Given the description of an element on the screen output the (x, y) to click on. 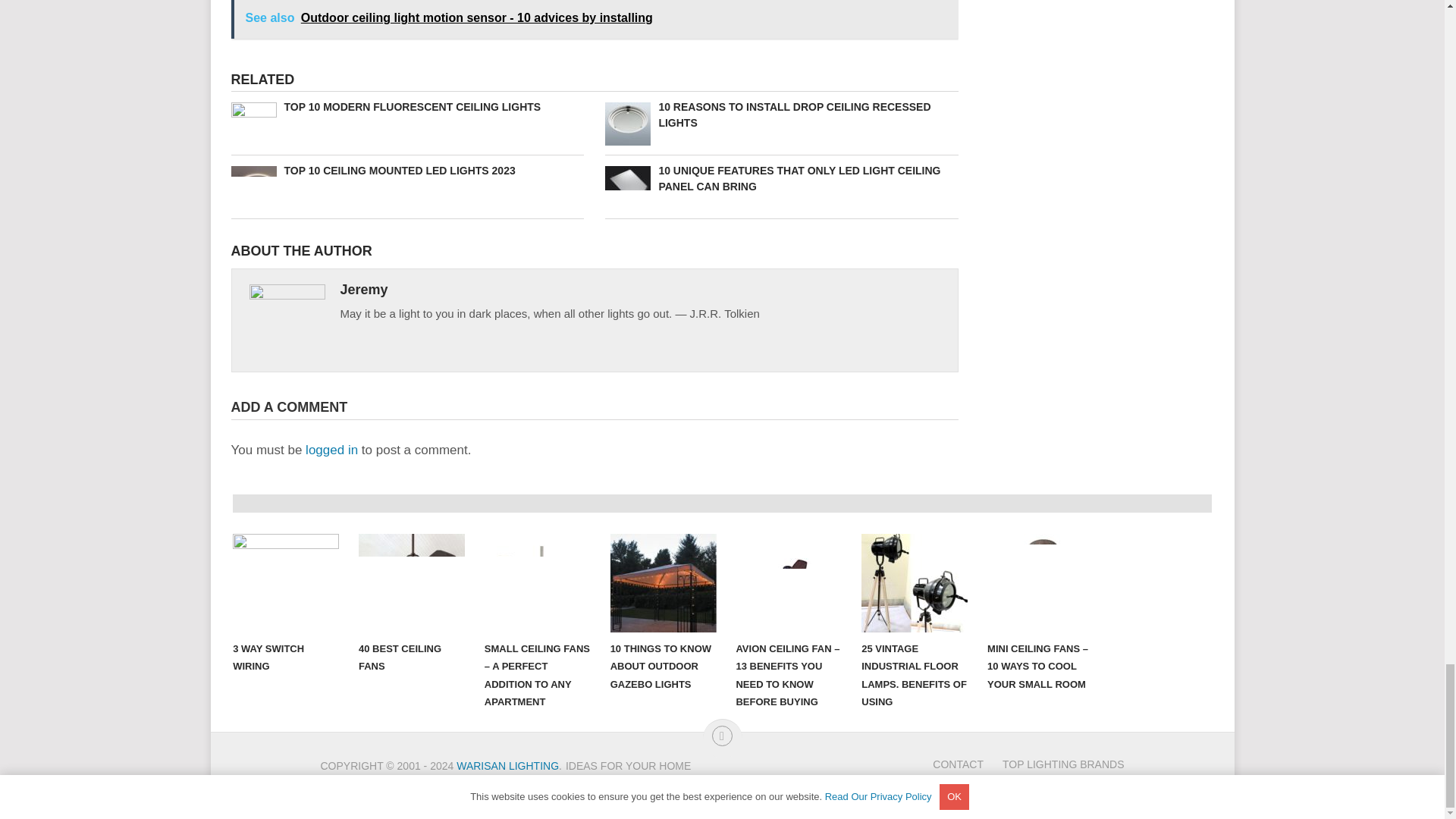
TOP 10 Modern fluorescent ceiling lights (406, 107)
logged in (331, 450)
10 REASONS TO INSTALL DROP CEILING RECESSED LIGHTS (781, 115)
TOP 10 CEILING MOUNTED LED LIGHTS 2023 (406, 170)
TOP 10 MODERN FLUORESCENT CEILING LIGHTS (406, 107)
TOP 10 Ceiling mounted led lights 2023 (406, 170)
10 reasons to install Drop ceiling recessed lights (781, 115)
